Given the description of an element on the screen output the (x, y) to click on. 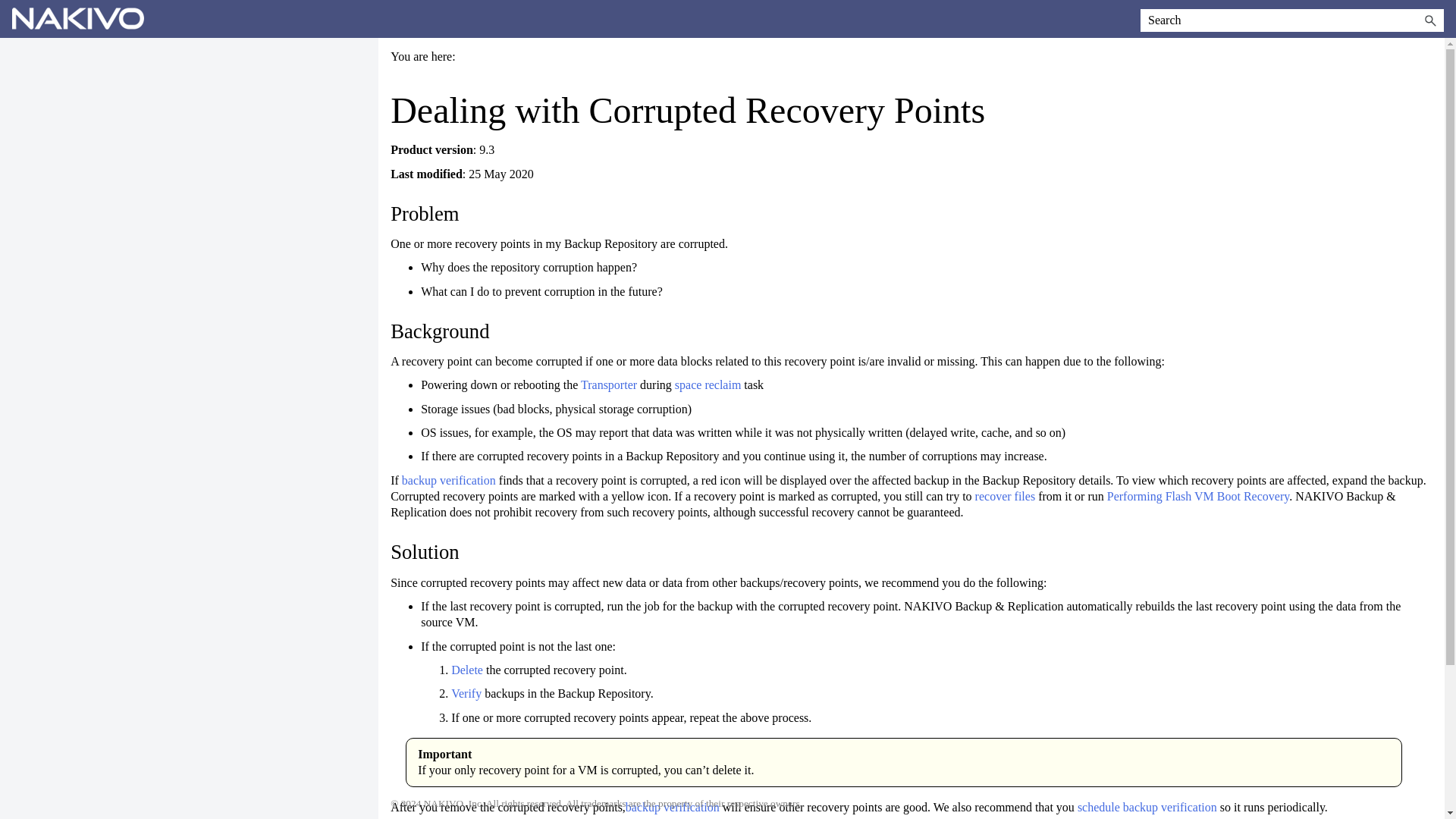
schedule backup verification (1147, 807)
backup verification (448, 480)
recover files (1005, 495)
space reclaim (708, 384)
Delete (468, 669)
Performing Flash VM Boot Recovery (1197, 495)
backup verification (672, 807)
Verify (466, 693)
Search (1430, 20)
Transporter (610, 384)
